Given the description of an element on the screen output the (x, y) to click on. 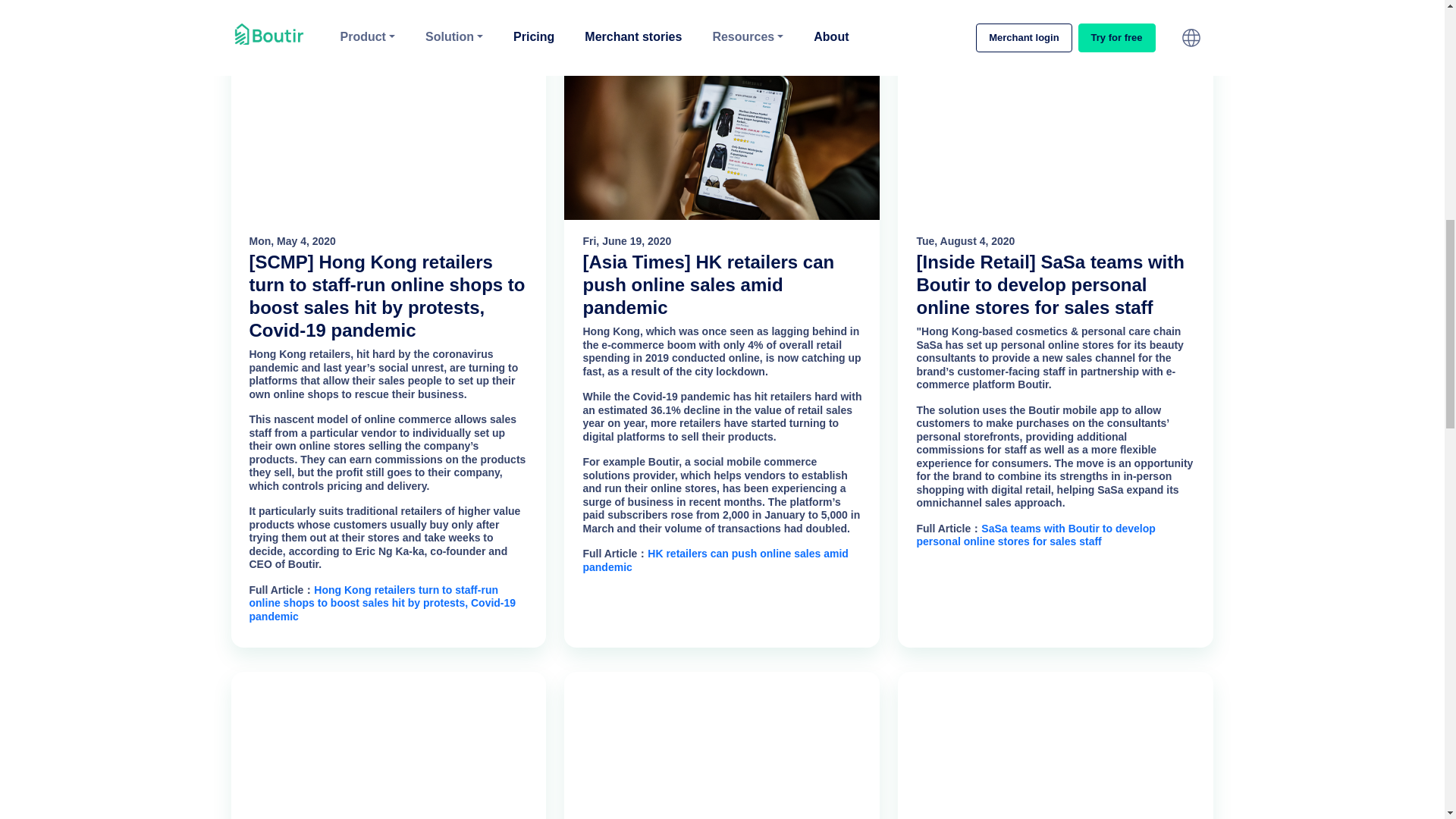
HK retailers can push online sales amid pandemic (714, 560)
